Given the description of an element on the screen output the (x, y) to click on. 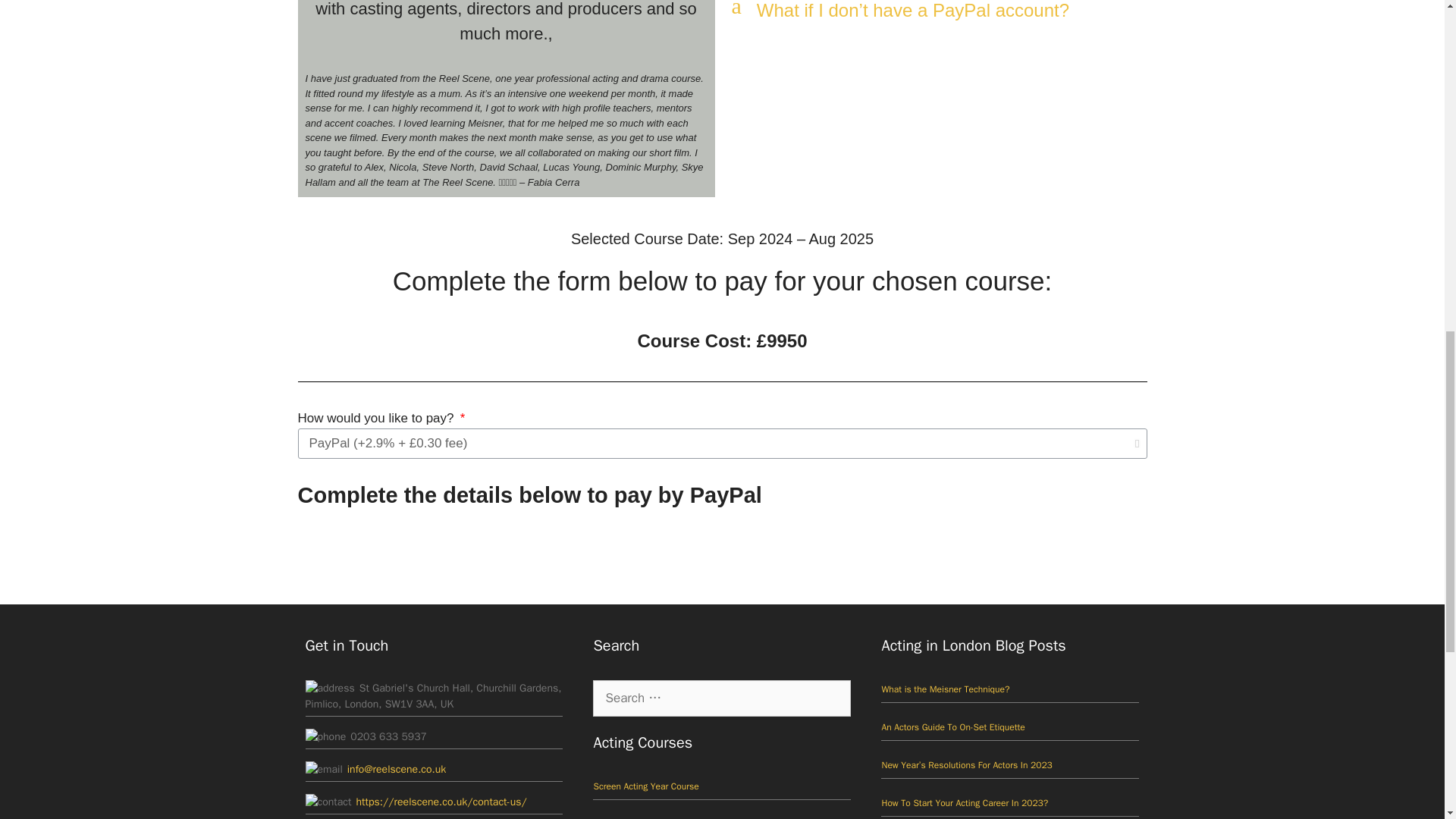
Search for: (721, 698)
